Given the description of an element on the screen output the (x, y) to click on. 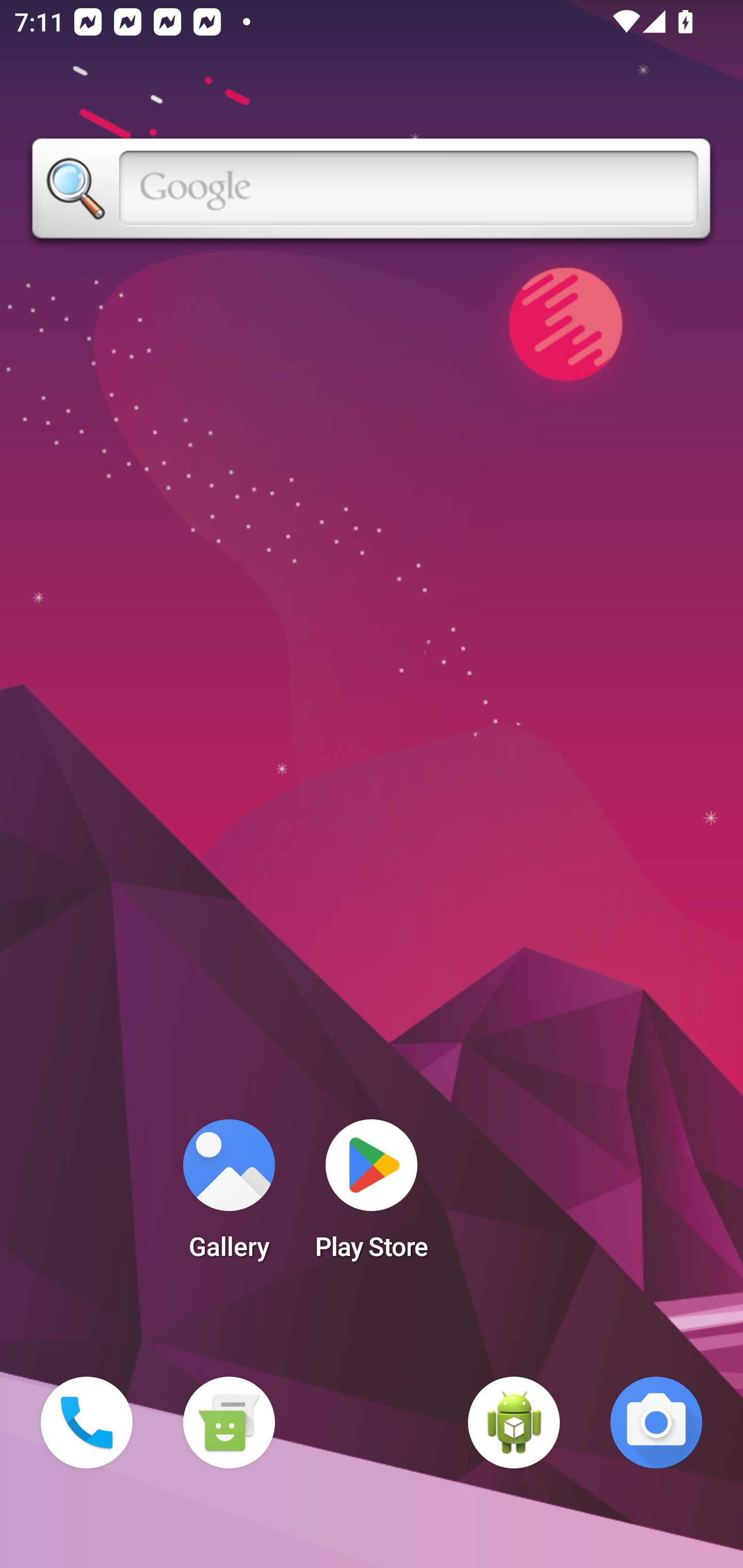
Gallery (228, 1195)
Play Store (371, 1195)
Phone (86, 1422)
Messaging (228, 1422)
WebView Browser Tester (513, 1422)
Camera (656, 1422)
